Given the description of an element on the screen output the (x, y) to click on. 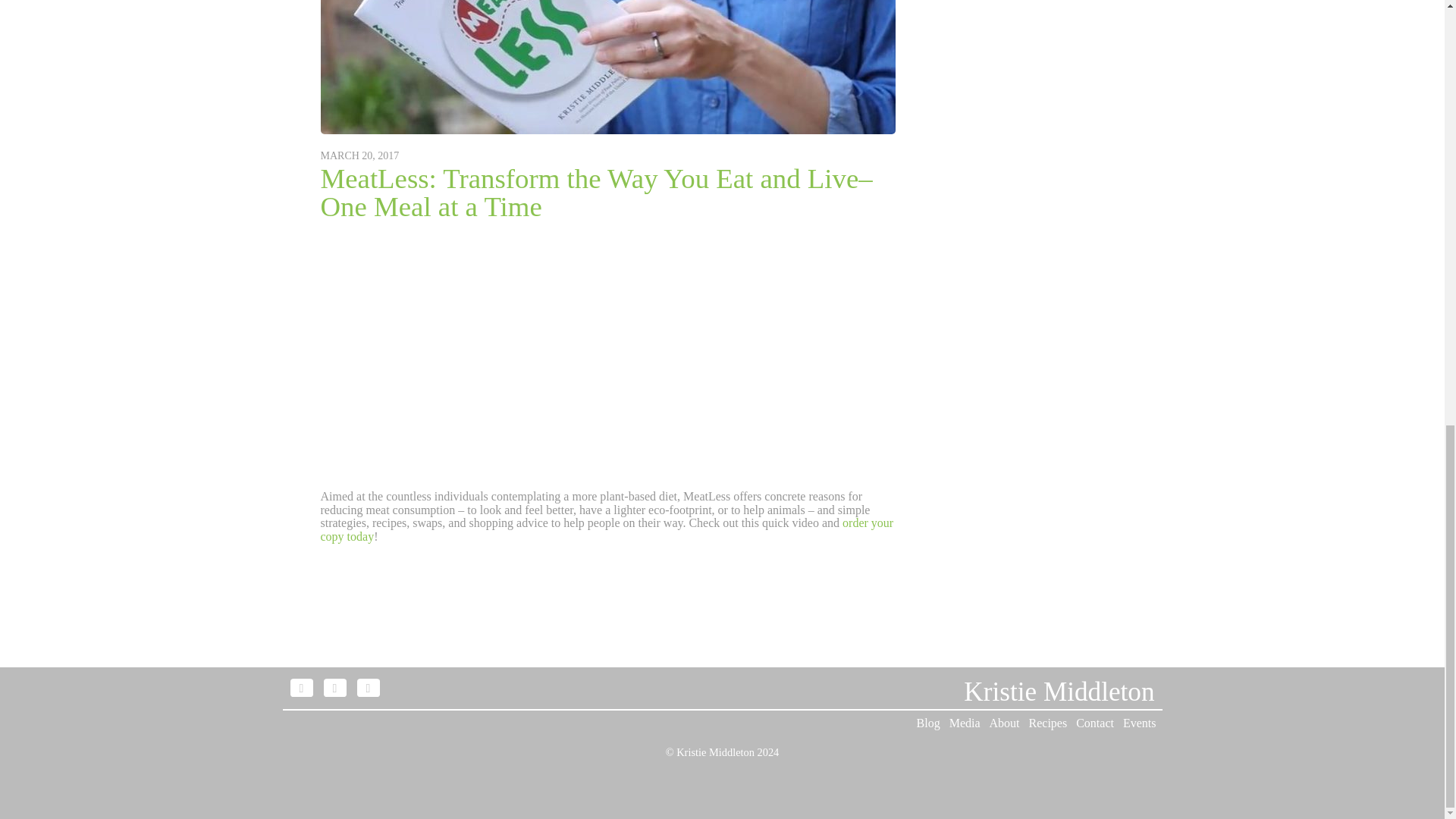
Kristie Middleton (1058, 691)
Blog (928, 722)
Media (964, 722)
Contact (1094, 722)
Recipes (1048, 722)
order your copy today (606, 529)
About (1005, 722)
Kristie Middleton (1058, 691)
Events (1139, 722)
Kristie Middleton (715, 752)
